Given the description of an element on the screen output the (x, y) to click on. 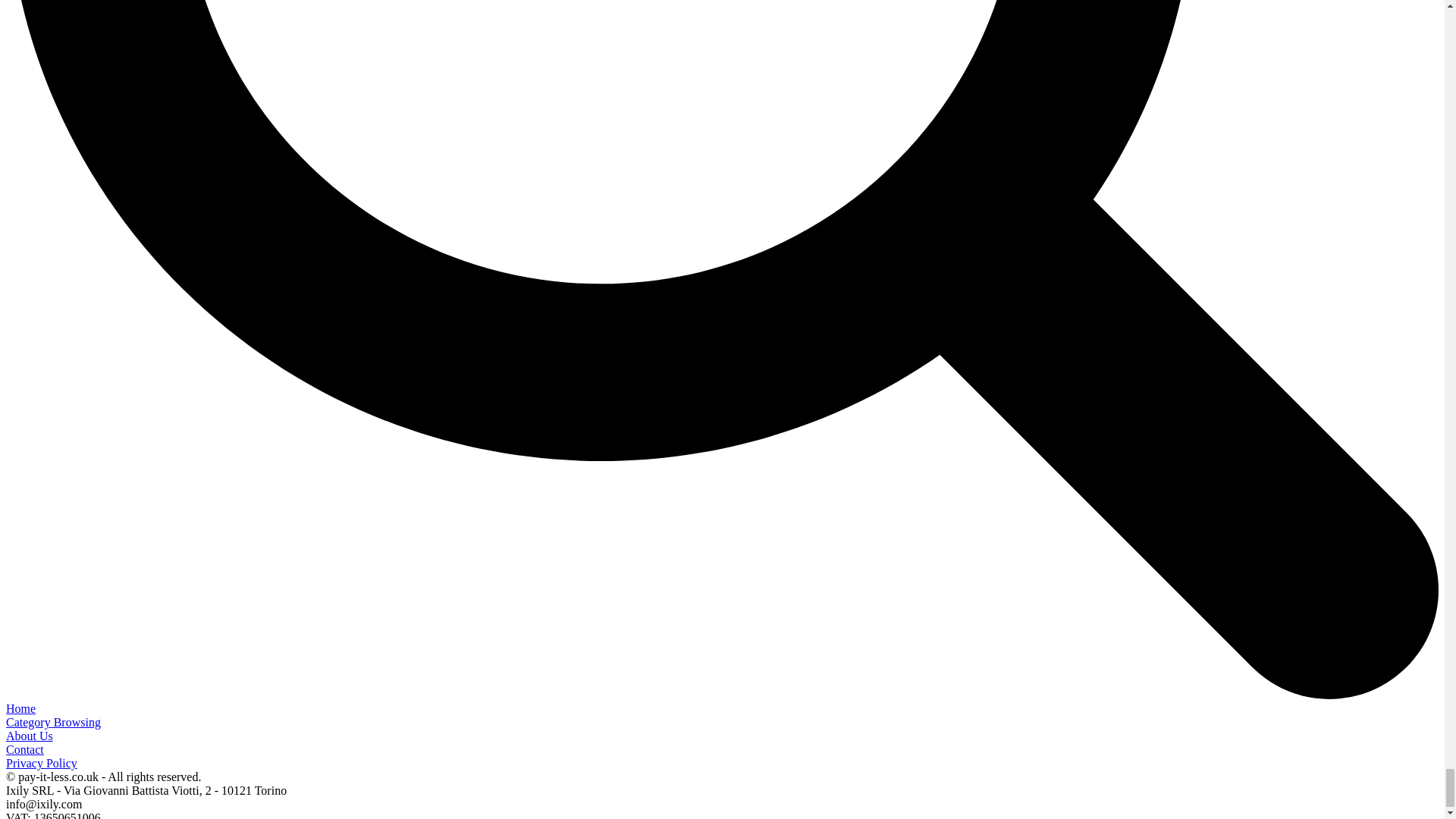
Contact (24, 748)
About Us (28, 735)
Home (19, 707)
Category Browsing (52, 721)
Privacy Policy (41, 762)
